Given the description of an element on the screen output the (x, y) to click on. 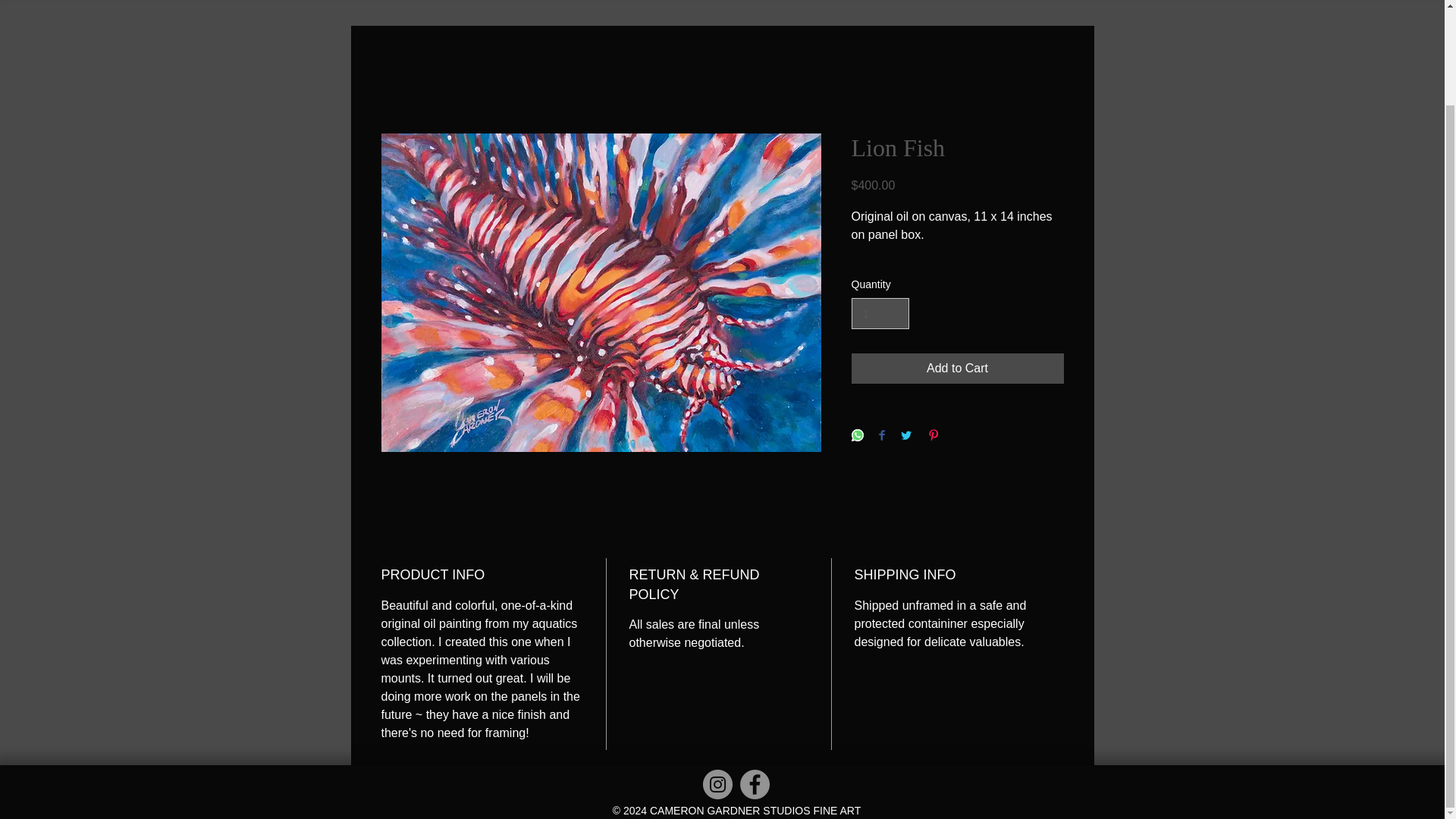
Add to Cart (956, 368)
1 (879, 313)
